Given the description of an element on the screen output the (x, y) to click on. 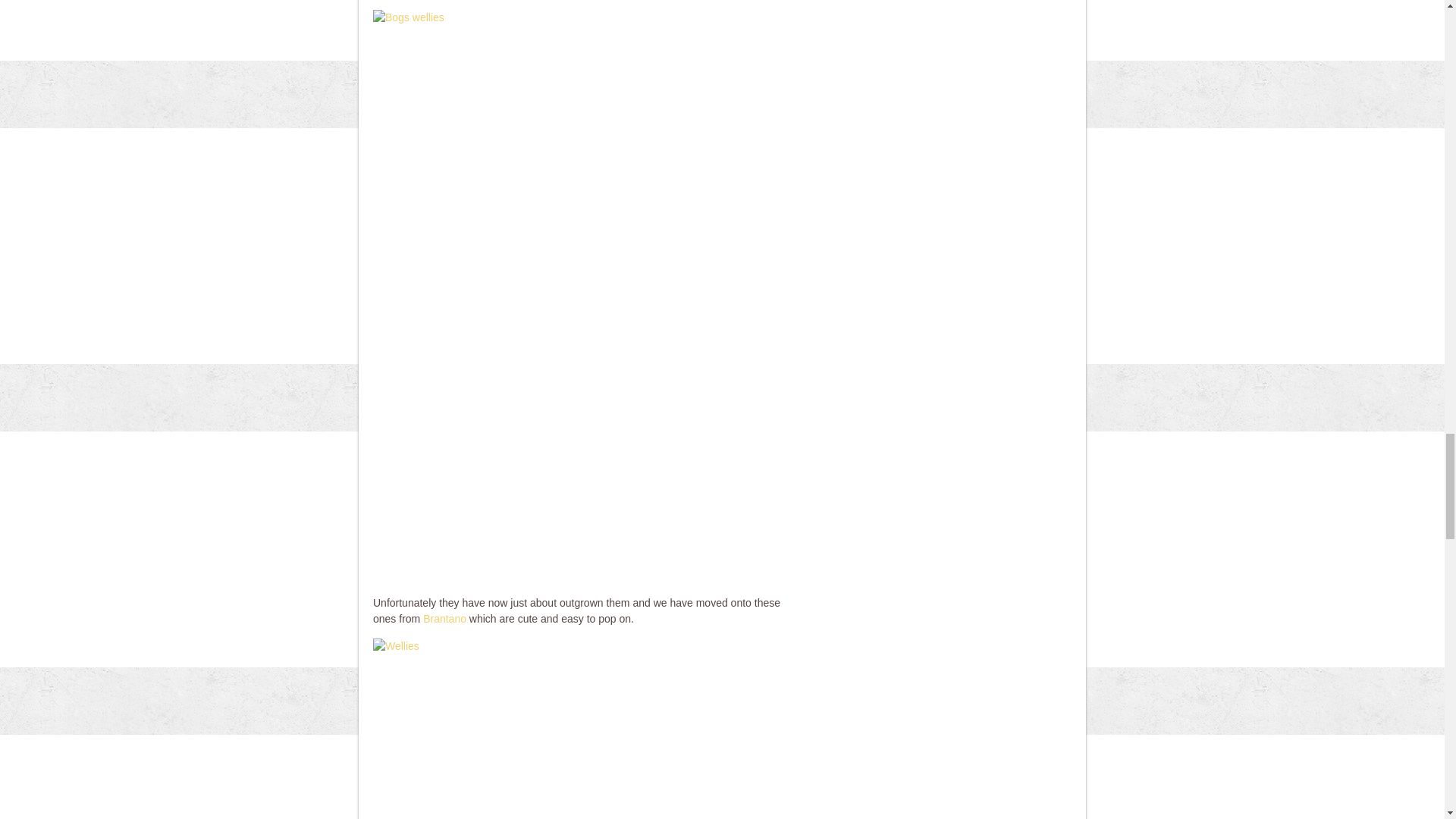
Brantano (444, 618)
